Given the description of an element on the screen output the (x, y) to click on. 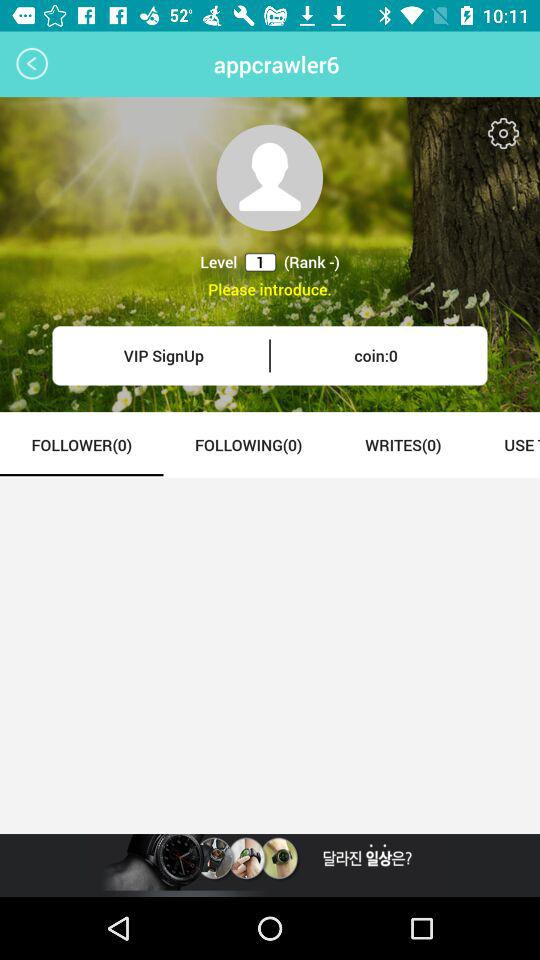
press the icon to the right of the following(0) item (402, 444)
